Given the description of an element on the screen output the (x, y) to click on. 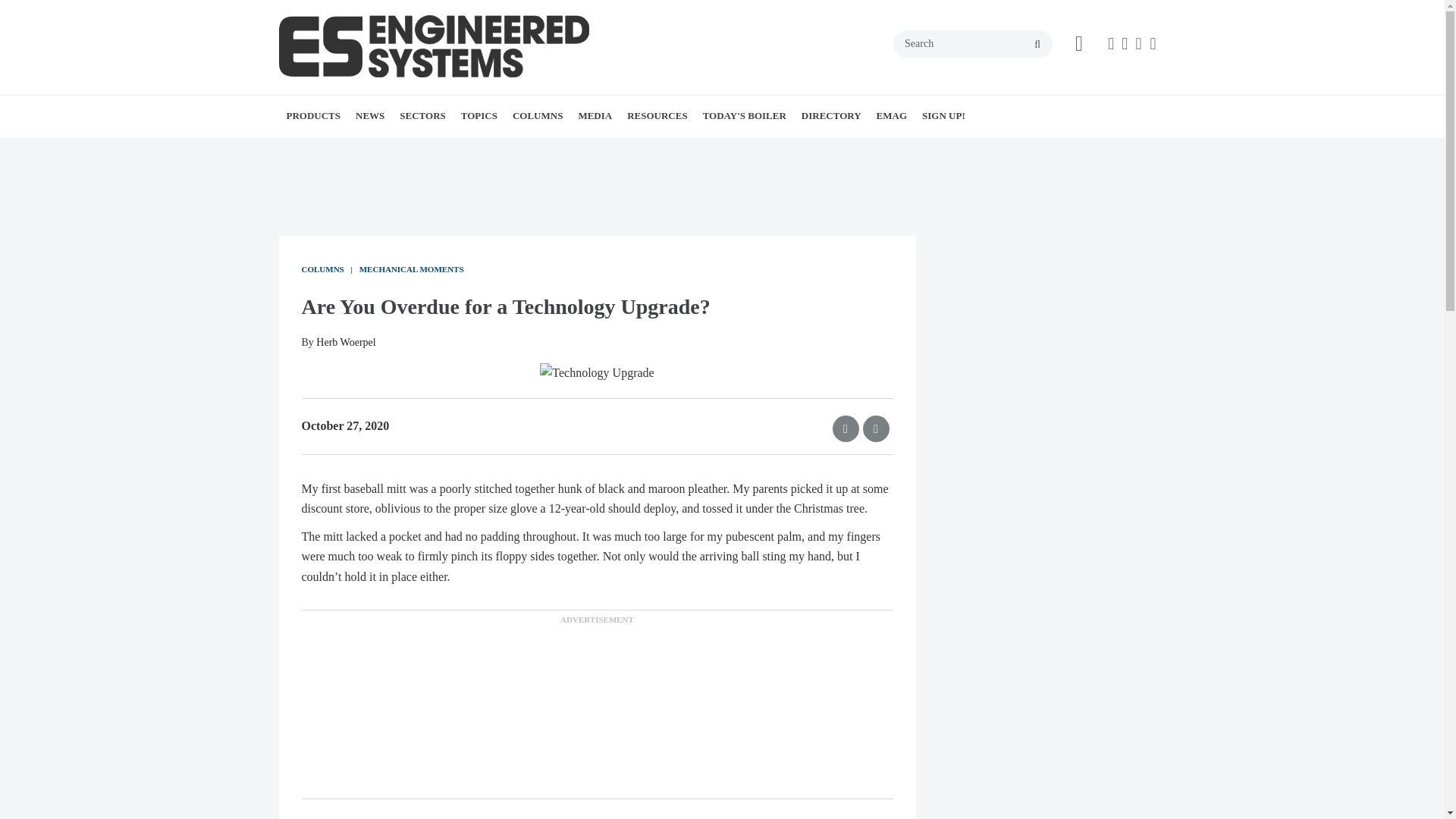
HEALTH CARE (504, 149)
HOSPITALITY (509, 149)
IAQ (574, 149)
NEWS (369, 115)
BUILDING AUTOMATION (547, 149)
COLUMNS (537, 115)
RETROFITS (587, 149)
MISSION CRITICAL (517, 149)
facebook (1110, 44)
search (1037, 44)
TOPICS (478, 115)
Search (972, 43)
VENTILATION (592, 149)
SECTORS (421, 115)
linkedin (1138, 44)
